Given the description of an element on the screen output the (x, y) to click on. 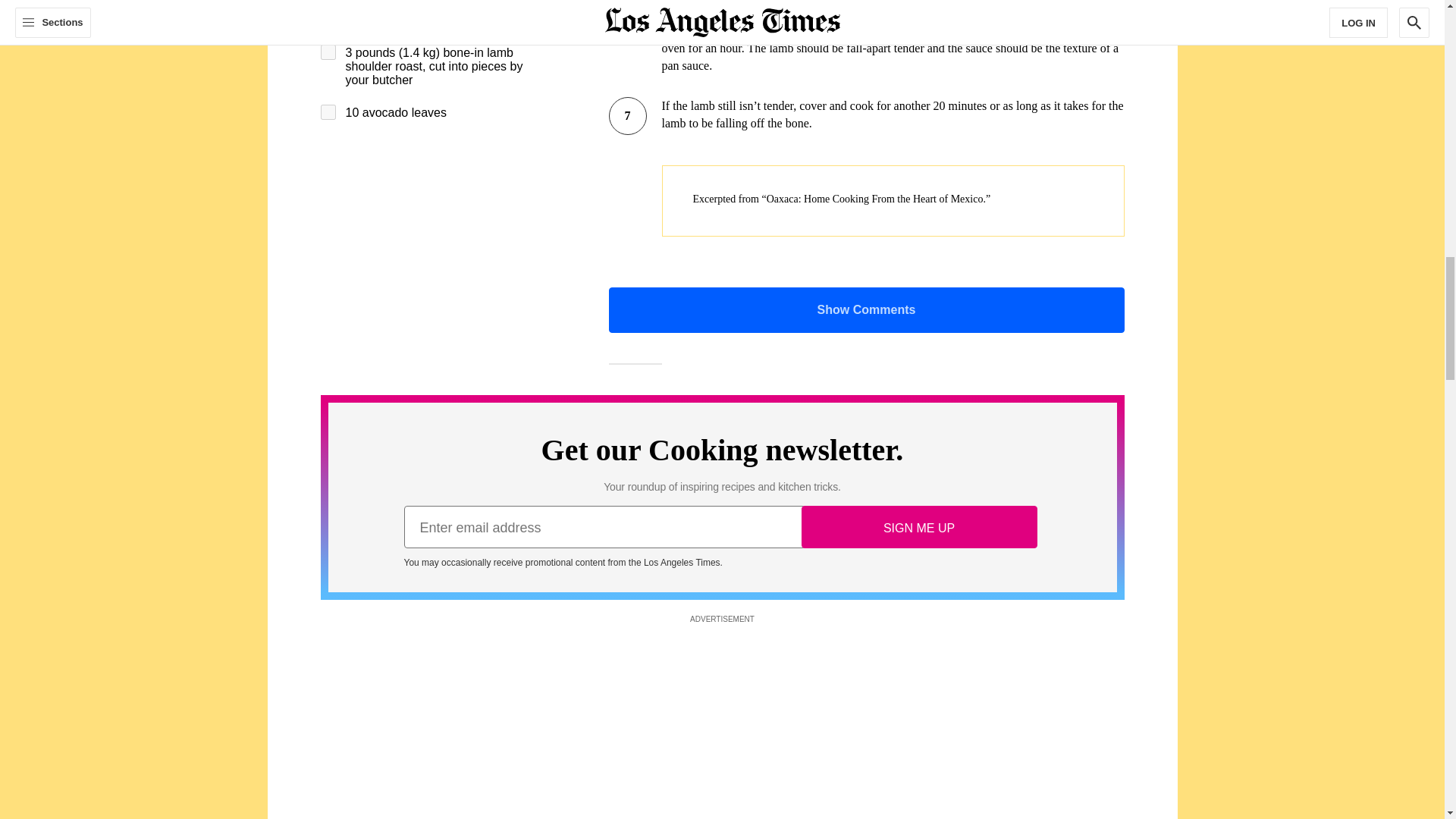
on (327, 111)
on (327, 52)
on (327, 19)
